Given the description of an element on the screen output the (x, y) to click on. 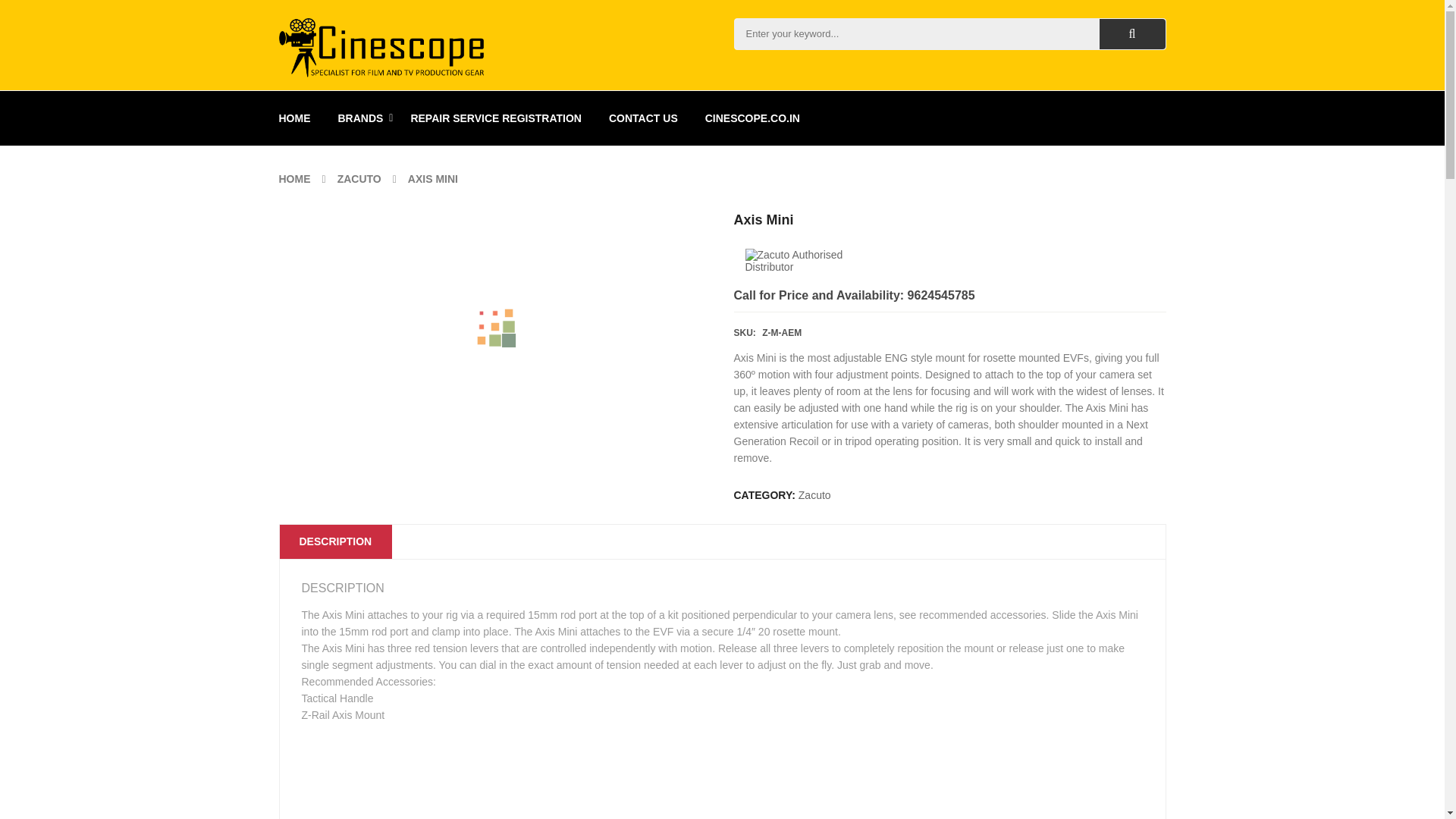
Axis Mini (721, 771)
BRANDS (360, 117)
Search (1132, 33)
DESCRIPTION (335, 541)
Call for Price and Availability: 9624545785 (854, 295)
HOME (295, 178)
Zacuto (814, 494)
ZACUTO (359, 178)
REPAIR SERVICE REGISTRATION (495, 117)
CONTACT US (643, 117)
